Given the description of an element on the screen output the (x, y) to click on. 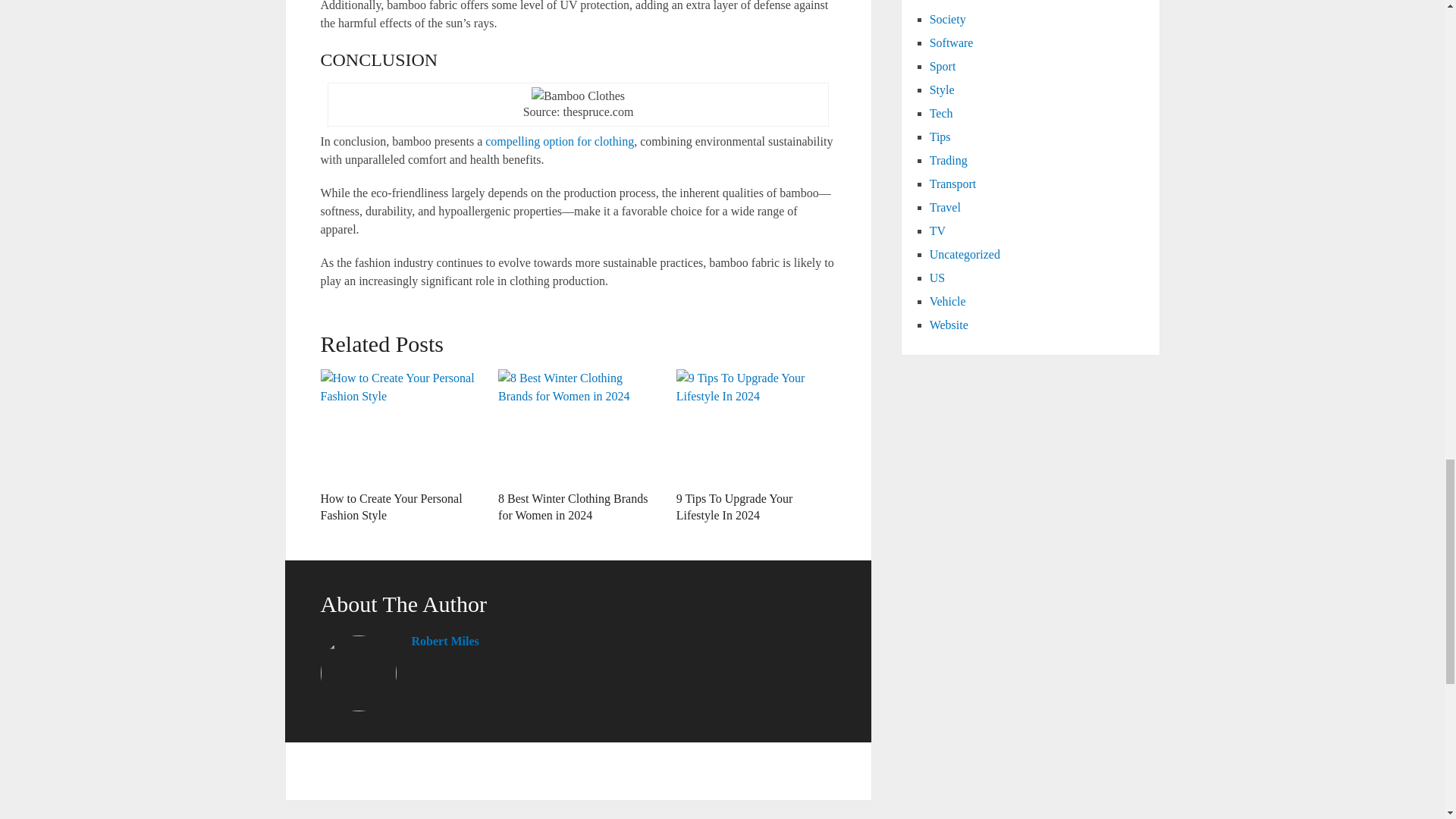
8 Best Winter Clothing Brands for Women in 2024 (577, 426)
9 Tips To Upgrade Your Lifestyle In 2024 (735, 506)
9 Tips To Upgrade Your Lifestyle In 2024 (735, 506)
Robert Miles (444, 640)
How to Create Your Personal Fashion Style (390, 506)
8 Best Winter Clothing Brands for Women in 2024 (572, 506)
compelling option for clothing (558, 141)
How to Create Your Personal Fashion Style (390, 506)
9 Tips To Upgrade Your Lifestyle In 2024 (756, 426)
How to Create Your Personal Fashion Style (400, 426)
8 Best Winter Clothing Brands for Women in 2024 (572, 506)
